Given the description of an element on the screen output the (x, y) to click on. 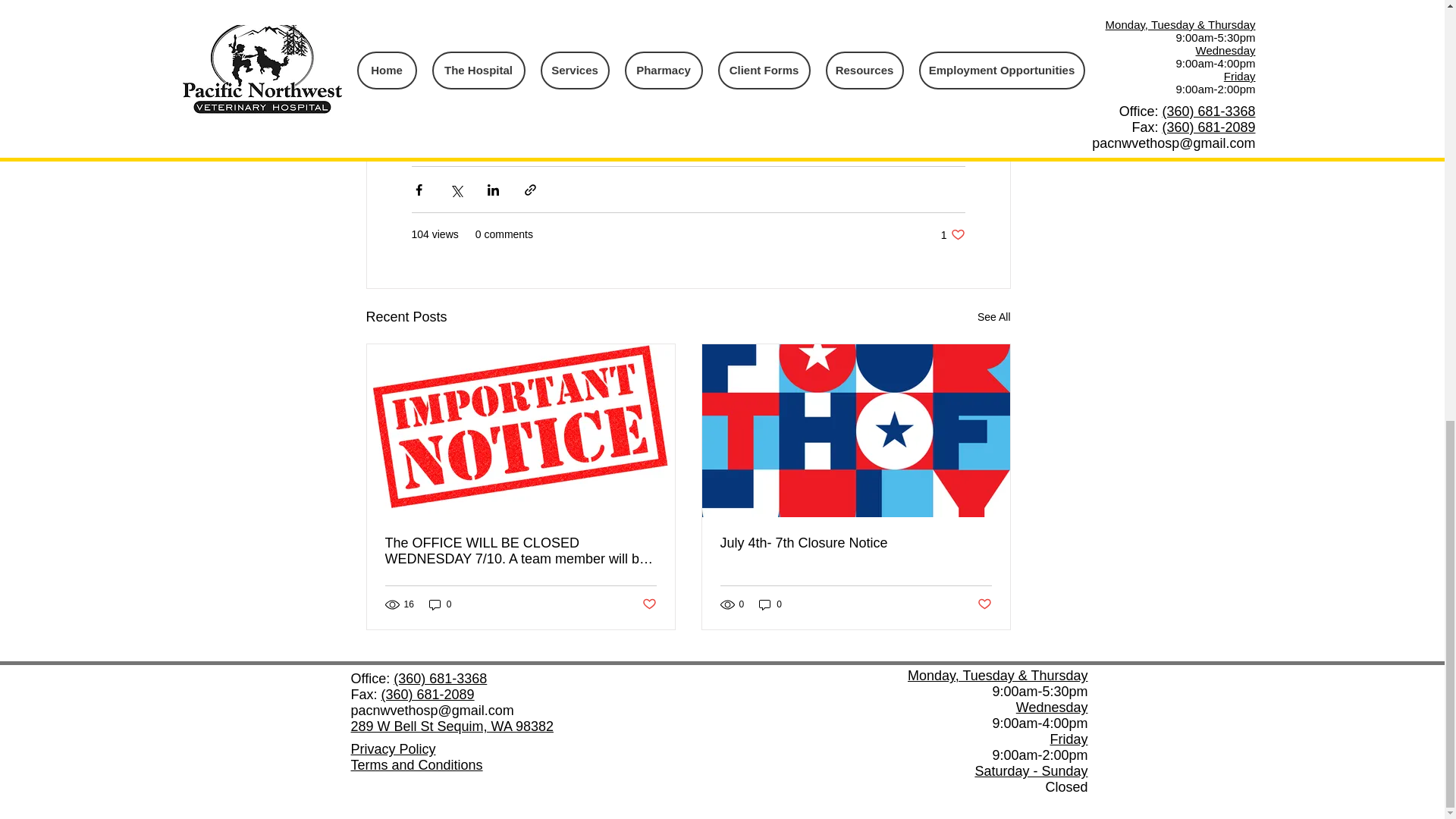
See All (993, 317)
July 4th- 7th Closure Notice (855, 543)
0 (440, 604)
289 W Bell St Sequim, WA 98382 (451, 726)
Post not marked as liked (983, 604)
0 (770, 604)
Privacy Policy (392, 749)
Post not marked as liked (952, 234)
